Given the description of an element on the screen output the (x, y) to click on. 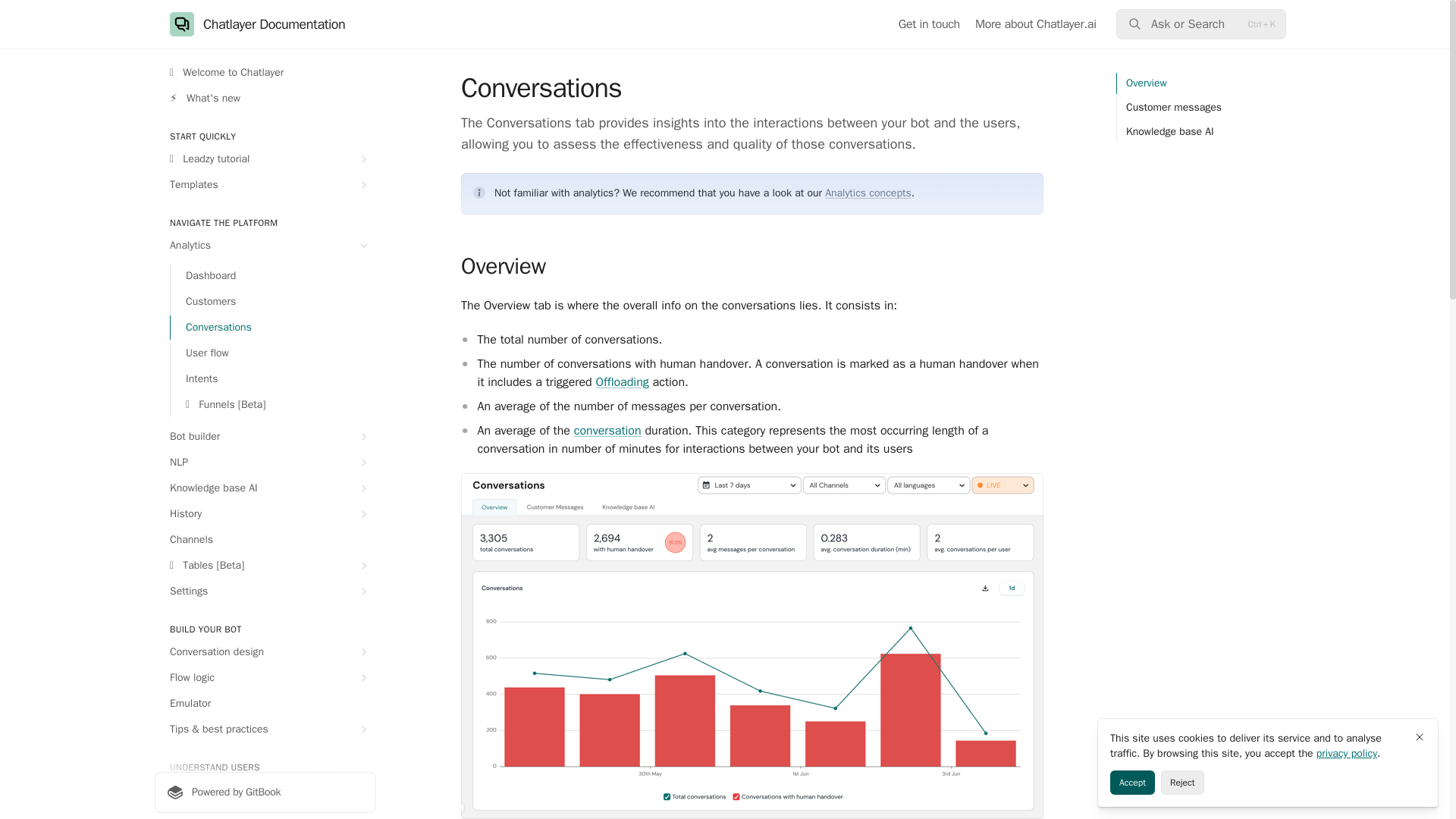
Get in touch (928, 24)
Templates (264, 184)
Dashboard (272, 275)
Chatlayer Documentation (257, 24)
Close (1419, 737)
More about Chatlayer.ai (1035, 24)
Bot builder (264, 436)
Intents (272, 378)
Analytics (264, 245)
User flow (272, 353)
Customers (272, 301)
Conversations (1200, 433)
